Given the description of an element on the screen output the (x, y) to click on. 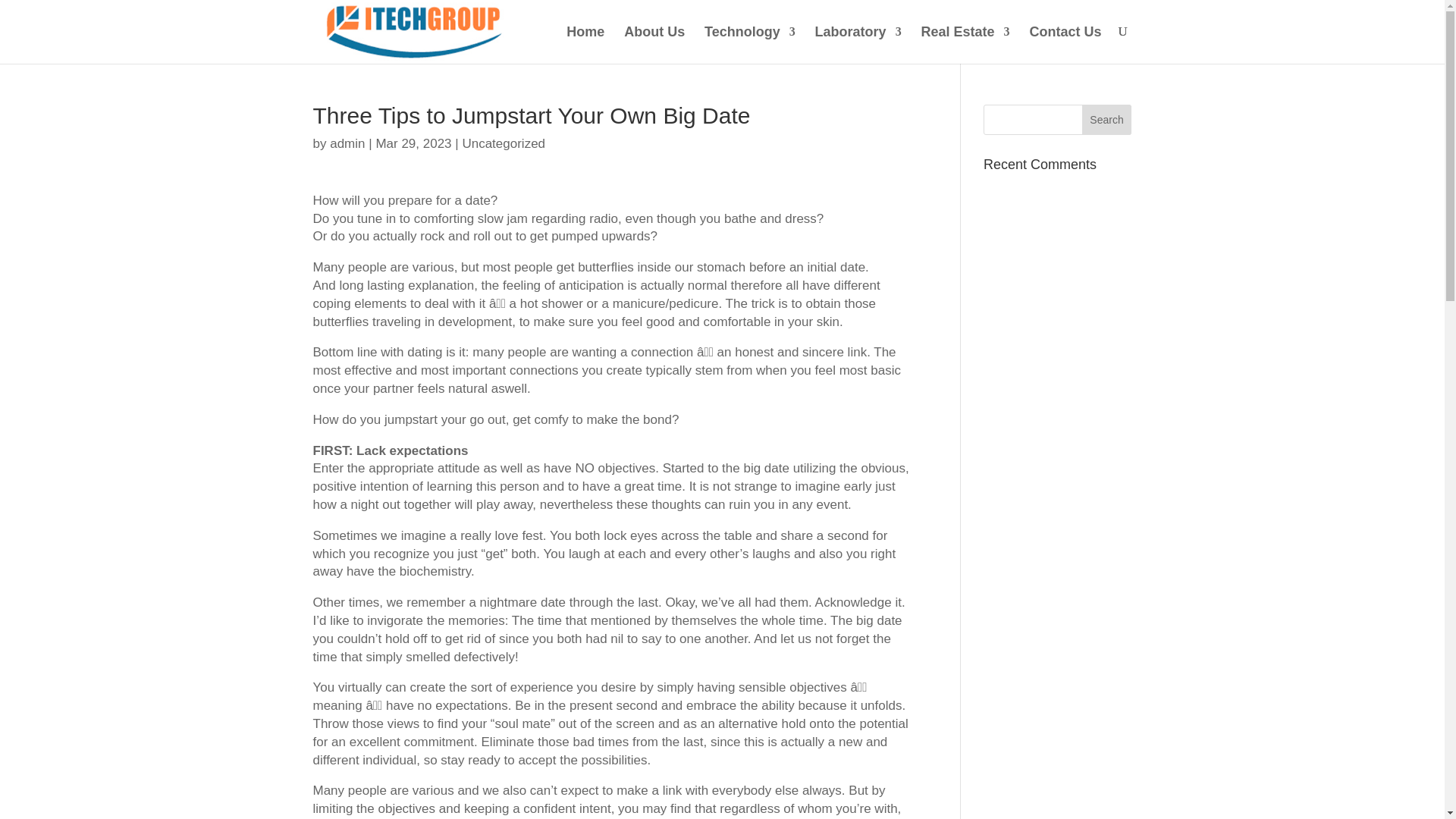
Laboratory (858, 44)
Uncategorized (502, 143)
Home (585, 44)
admin (347, 143)
Contact Us (1064, 44)
Real Estate (965, 44)
Search (1106, 119)
Posts by admin (347, 143)
Search (1106, 119)
Technology (749, 44)
